Given the description of an element on the screen output the (x, y) to click on. 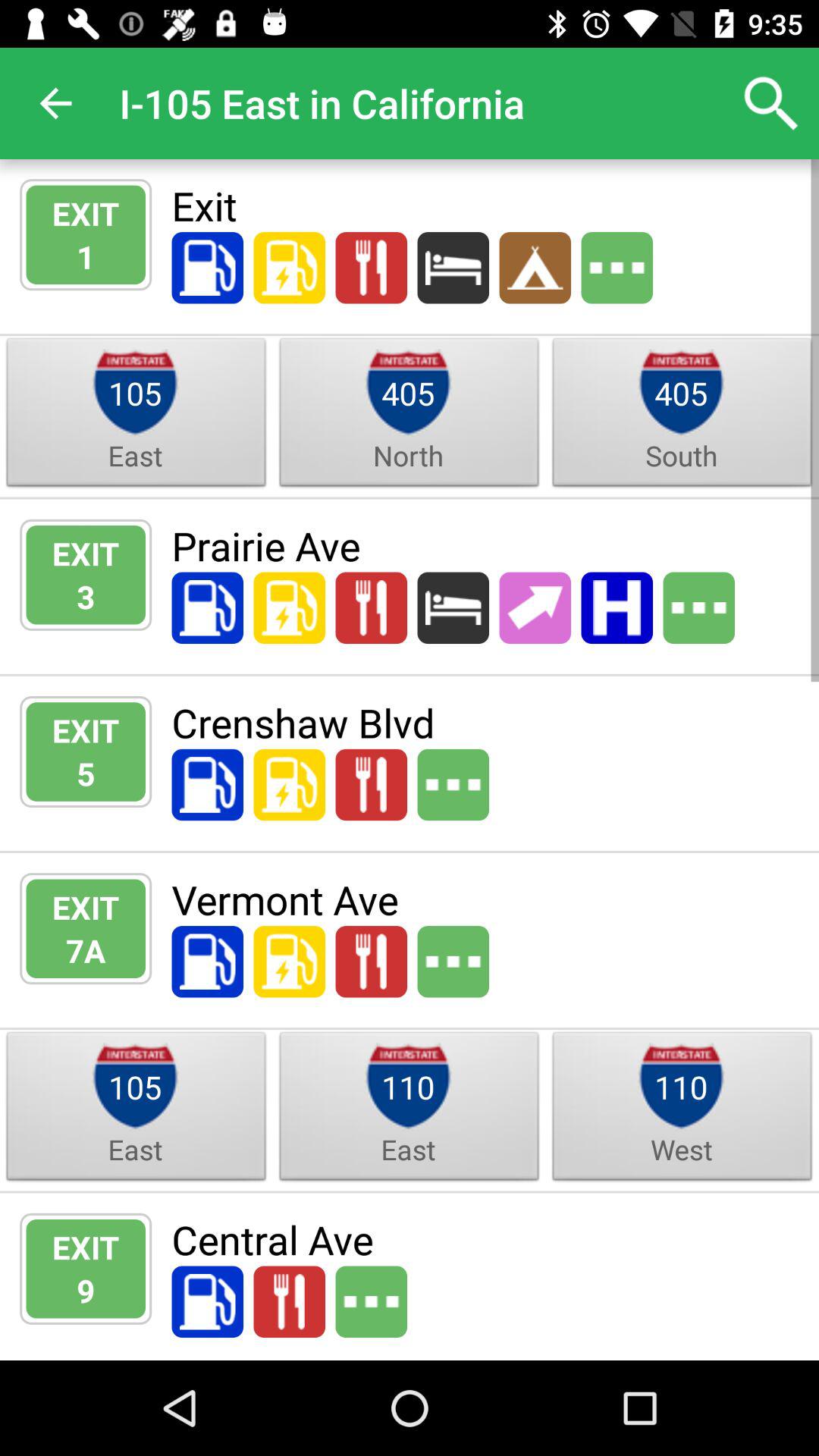
tap the crenshaw blvd (485, 722)
